Given the description of an element on the screen output the (x, y) to click on. 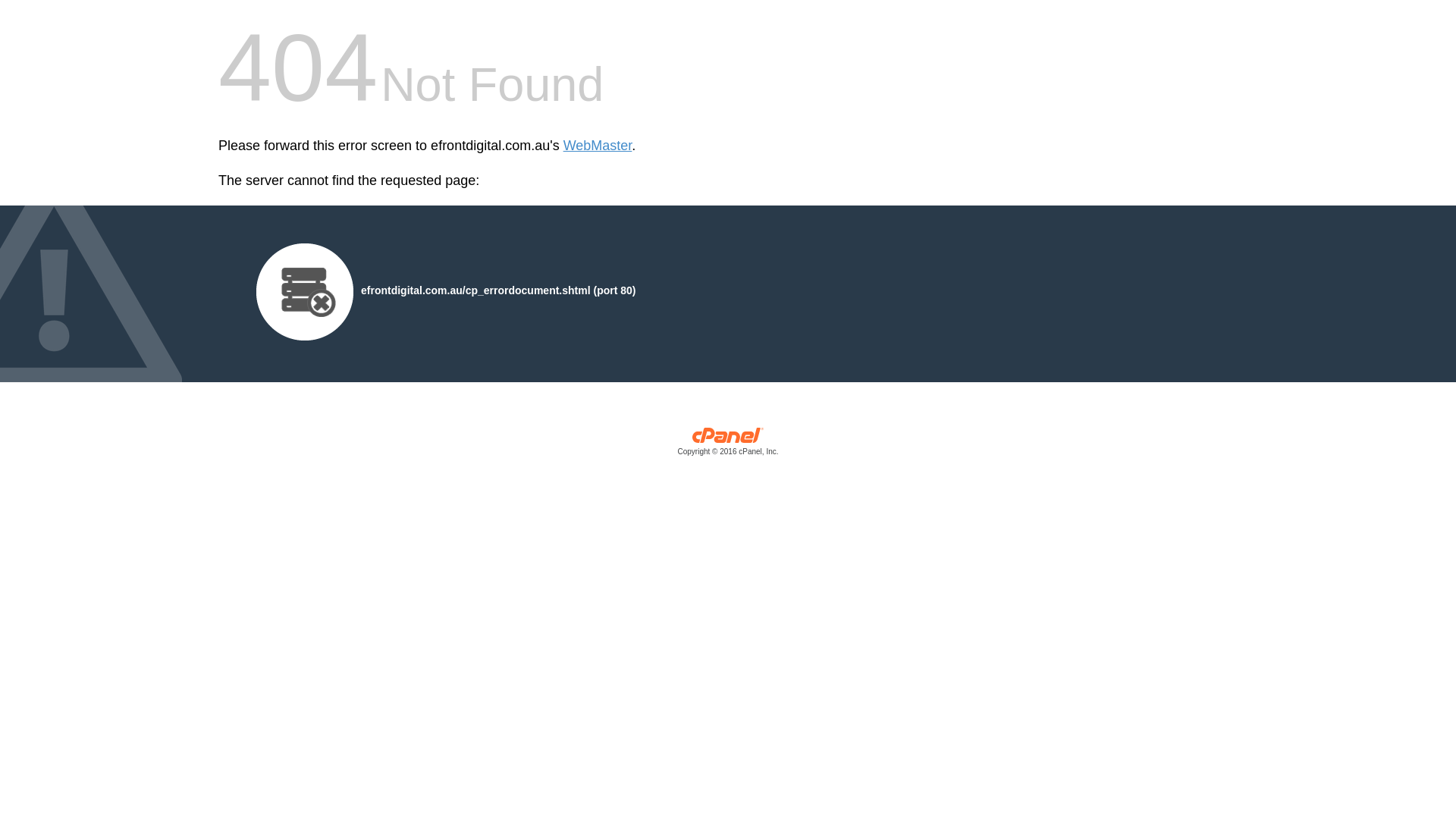
WebMaster Element type: text (597, 145)
